Given the description of an element on the screen output the (x, y) to click on. 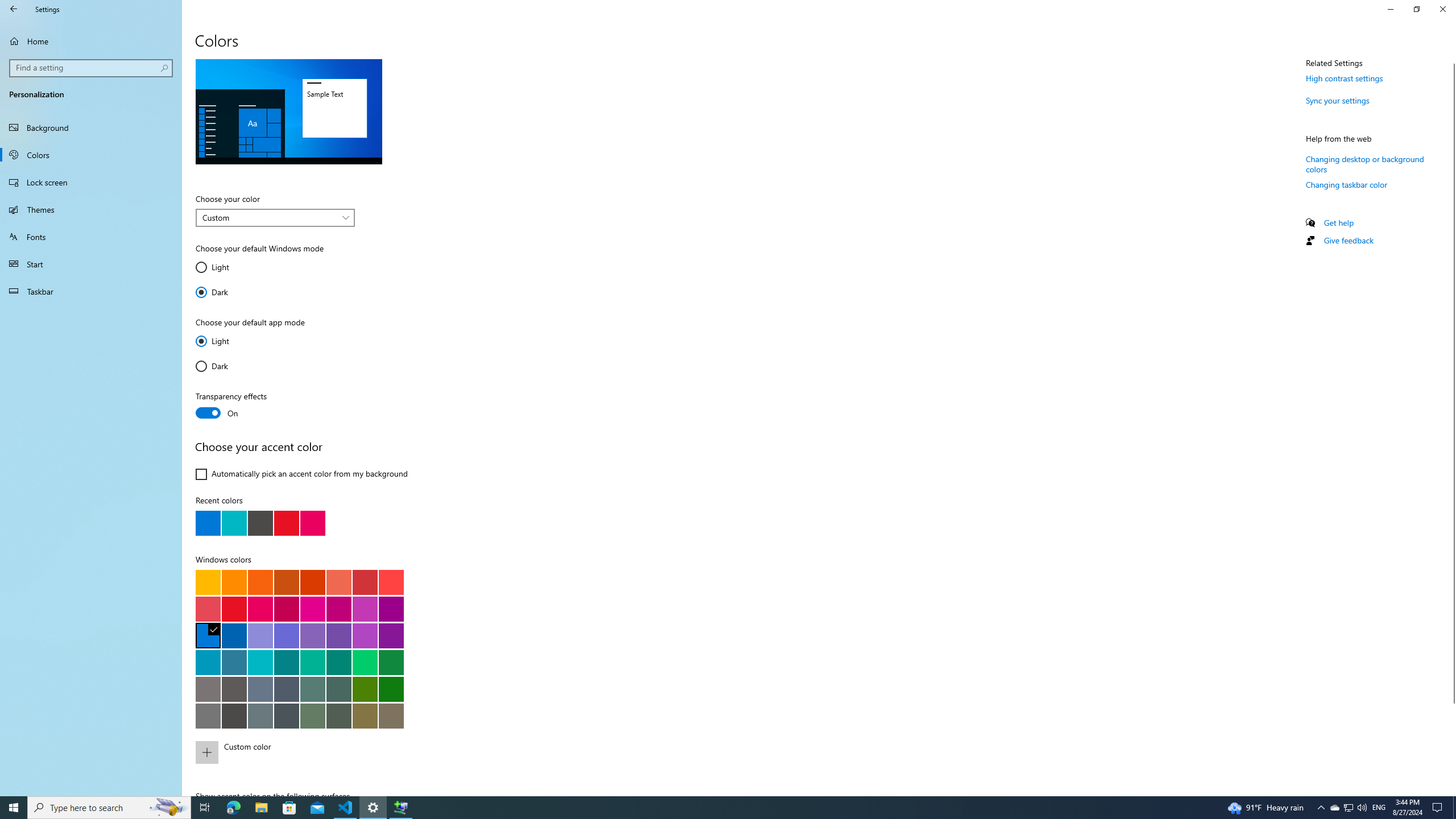
Liddy green (311, 715)
Violet red light (364, 635)
Vertical Small Increase (1451, 791)
Rose bright (260, 608)
Changing taskbar color (1346, 184)
Yellow gold (208, 581)
Overcast (208, 715)
Vertical Large Increase (1451, 745)
Light (229, 341)
Green (390, 688)
Turf green (364, 661)
Violet red (390, 635)
